Given the description of an element on the screen output the (x, y) to click on. 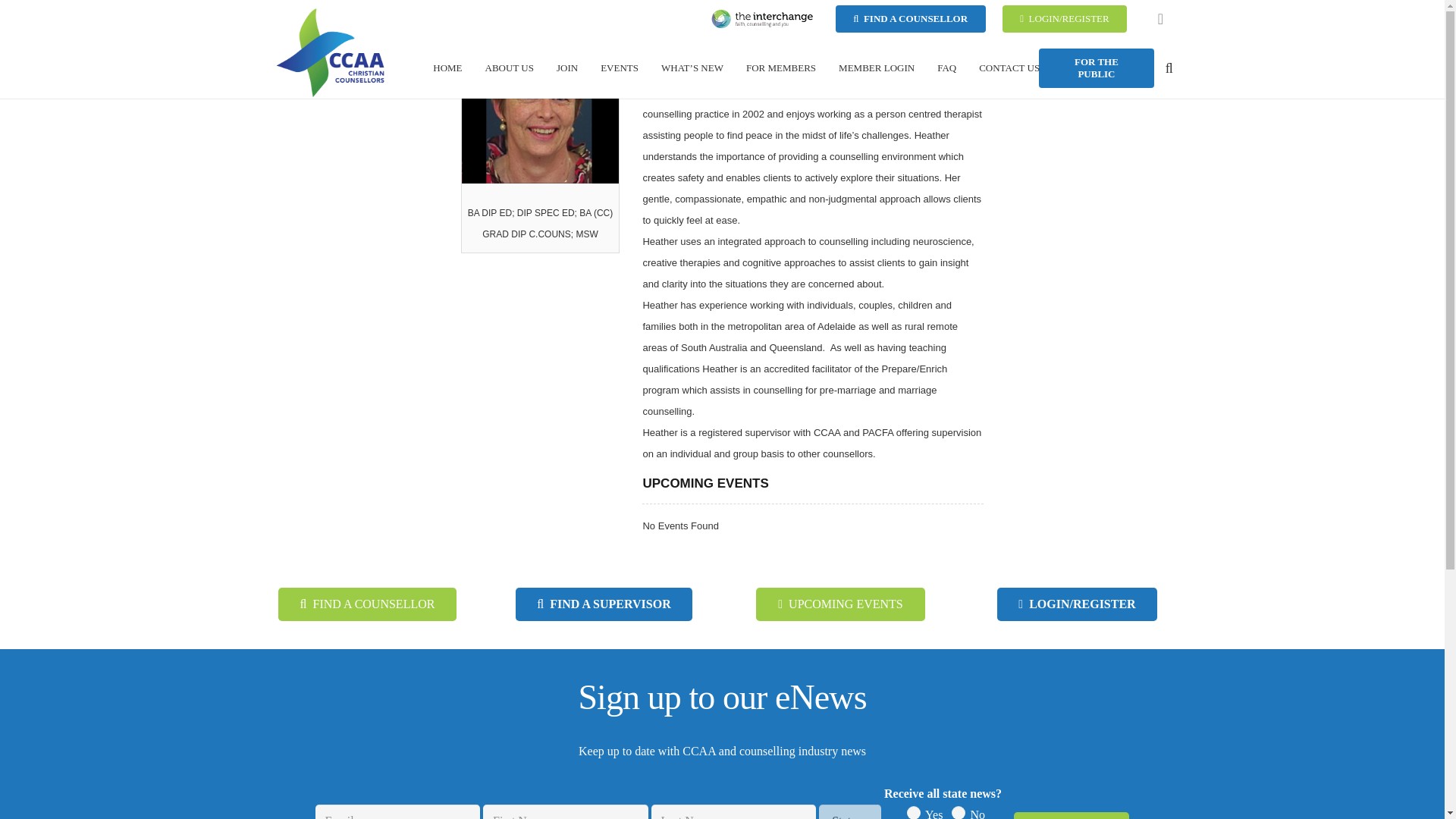
Subscribe (1071, 815)
FOR MEMBERS (781, 67)
No (958, 812)
Yes (913, 812)
EVENTS (619, 67)
ABOUT US (509, 67)
FIND A COUNSELLOR (910, 18)
